Given the description of an element on the screen output the (x, y) to click on. 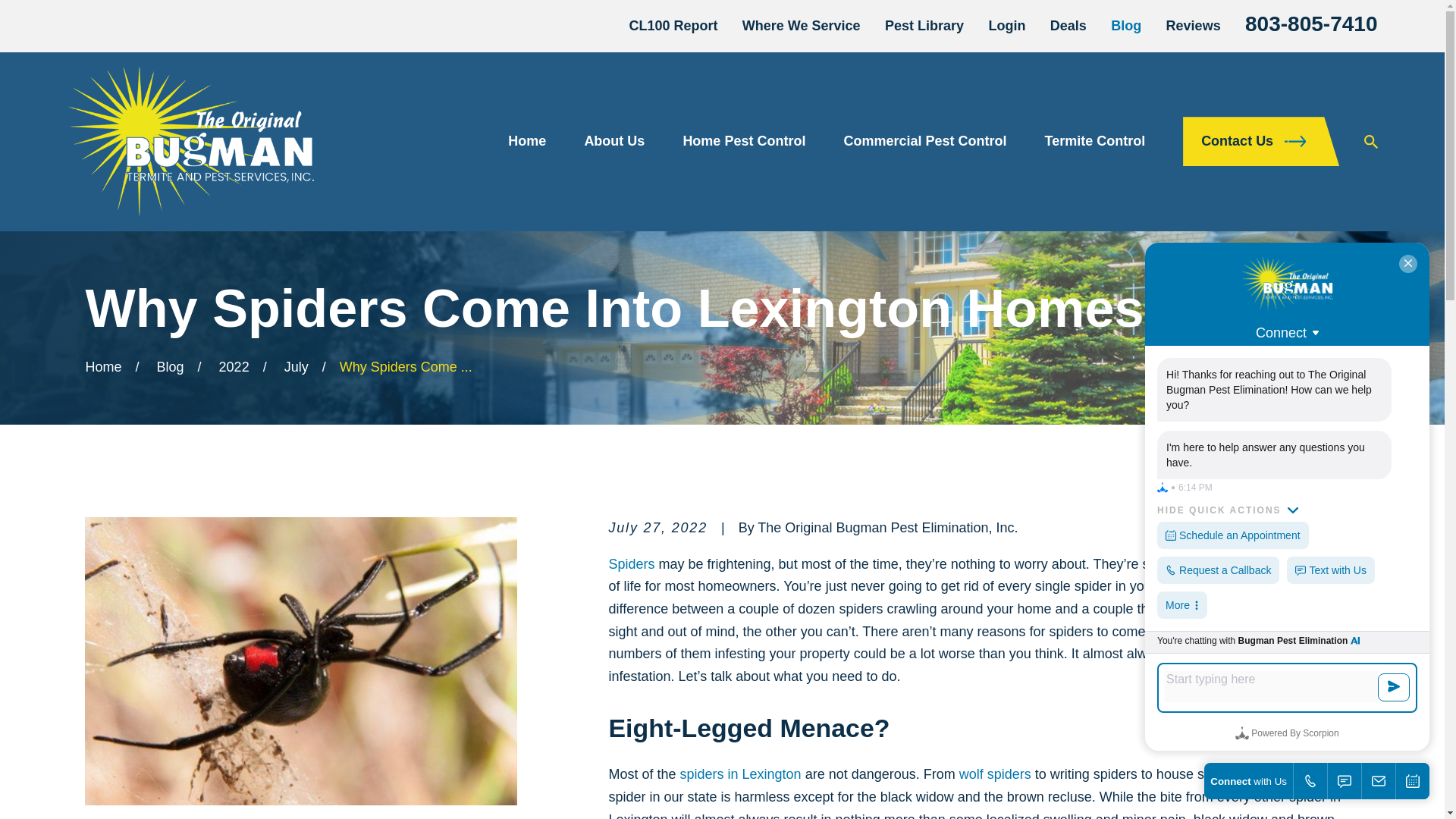
CL100 Report (672, 25)
Go Home (102, 366)
Commercial Pest Control (924, 140)
Pest Library (924, 25)
Reviews (1193, 25)
Login (1006, 25)
803-805-7410 (1310, 24)
Where We Service (801, 25)
Home Pest Control (743, 140)
About Us (614, 140)
Deals (1067, 25)
Home (190, 141)
Termite Control (1093, 140)
Blog (1125, 25)
